Given the description of an element on the screen output the (x, y) to click on. 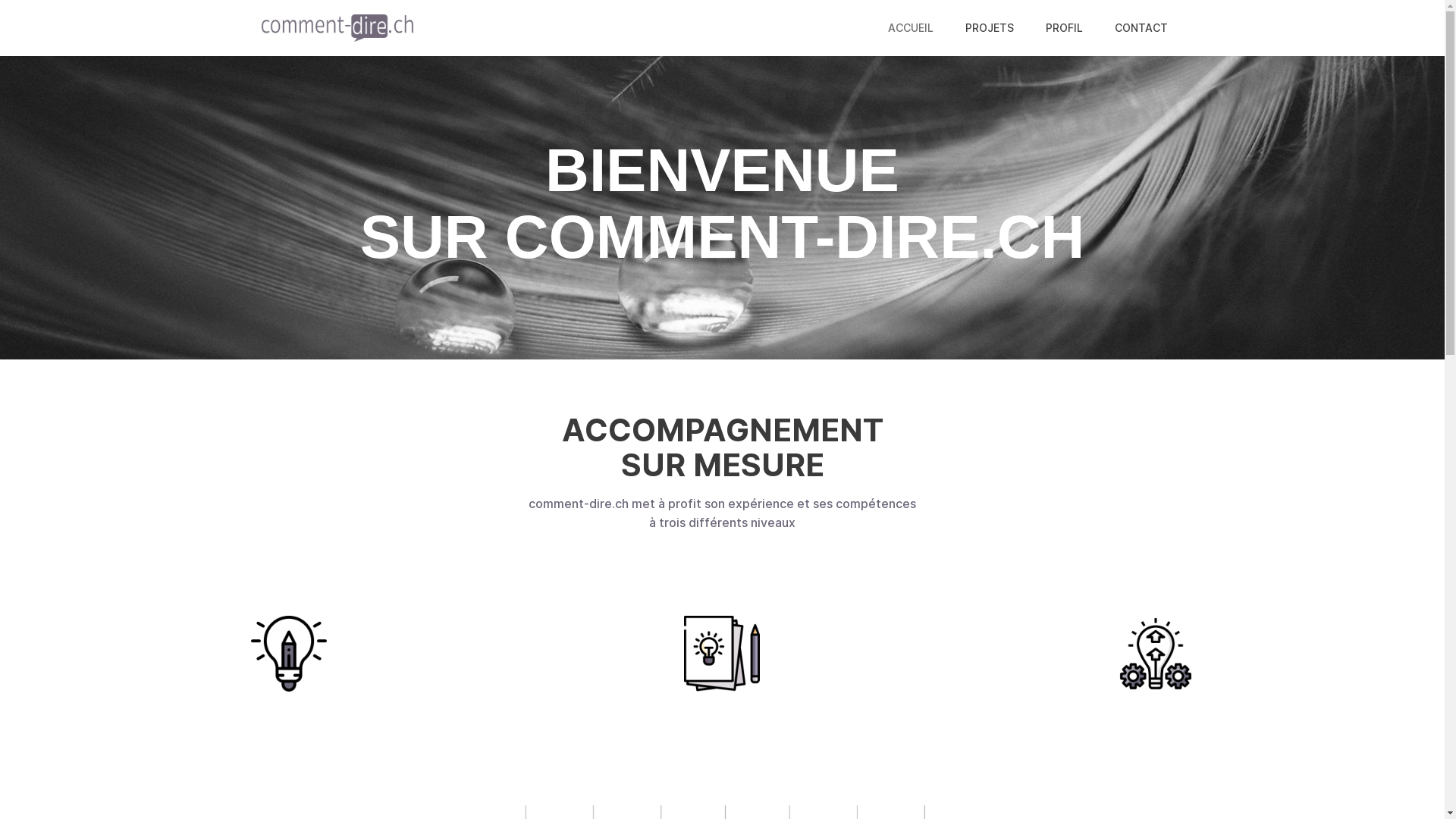
ACCUEIL Element type: text (910, 27)
PROJETS Element type: text (989, 27)
PROFIL Element type: text (1063, 27)
CONTACT Element type: text (1140, 27)
